Given the description of an element on the screen output the (x, y) to click on. 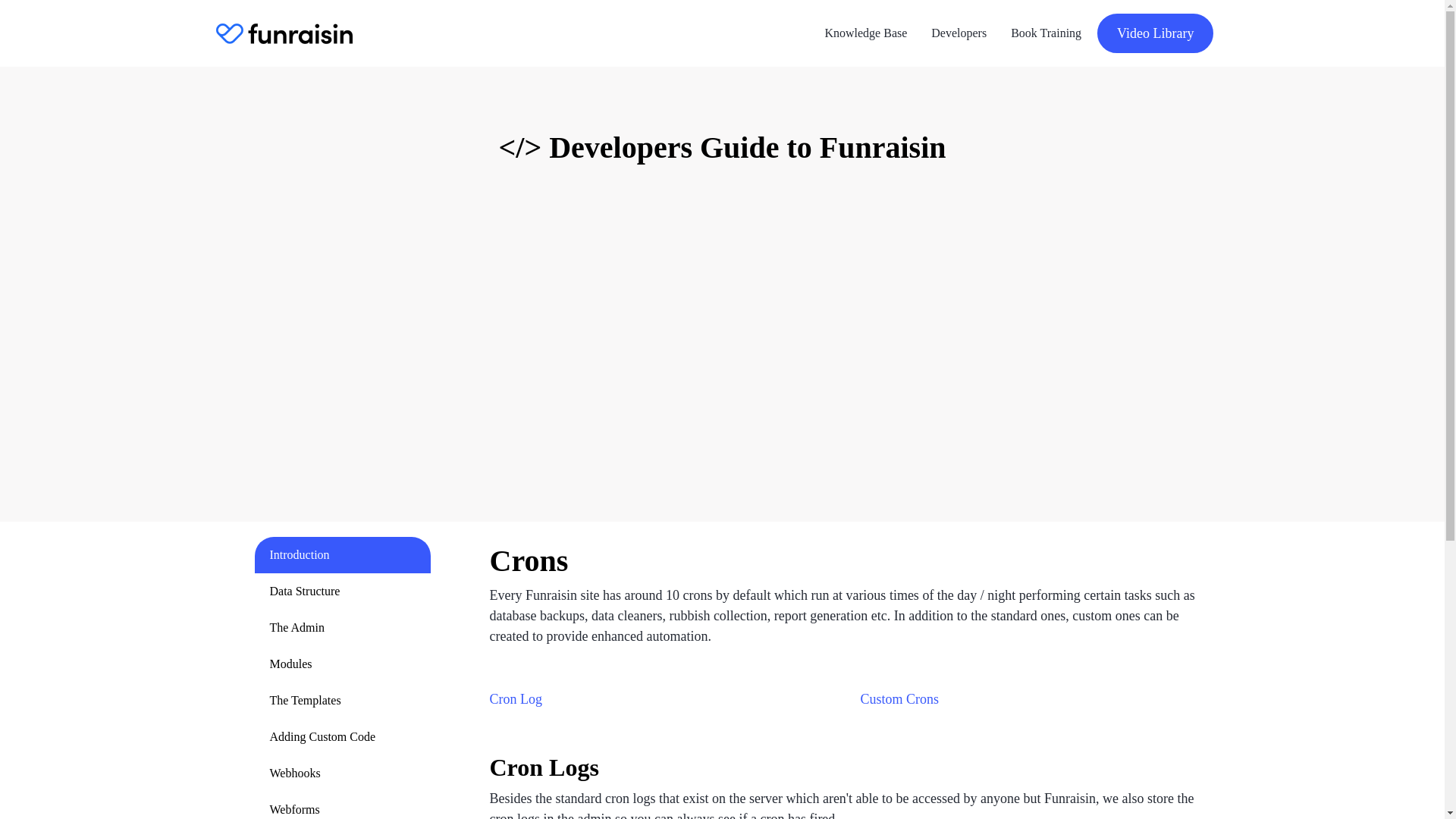
Knowledge Base (865, 33)
The Admin (342, 627)
Cron Log (516, 698)
Custom Crons (899, 698)
Modules (342, 664)
Introduction (342, 555)
Adding Custom Code (342, 737)
Video Library (1154, 33)
Webforms (342, 805)
Developers (958, 33)
The Templates (342, 700)
Data Structure (342, 591)
Book Training (1045, 33)
Webhooks (342, 773)
